Given the description of an element on the screen output the (x, y) to click on. 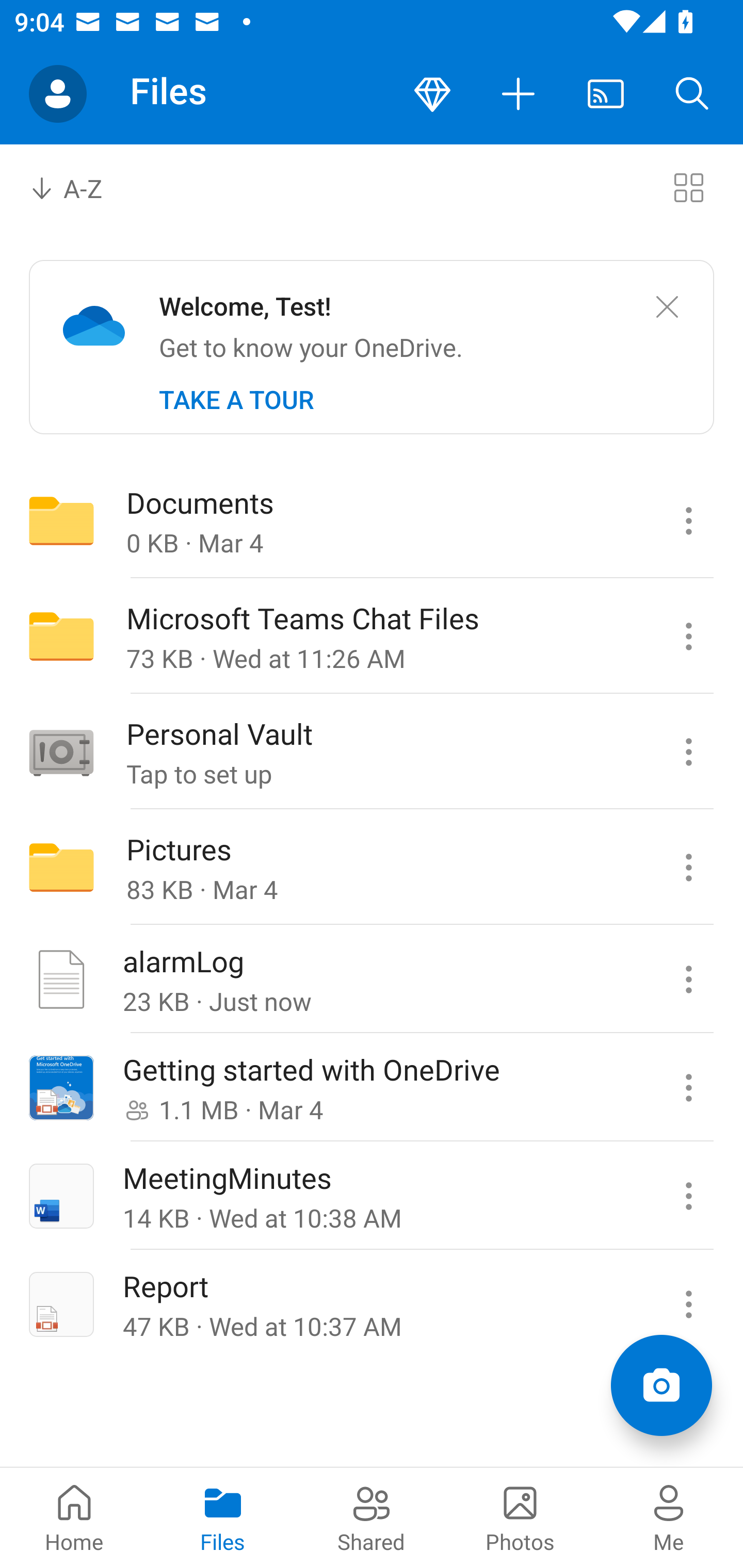
Account switcher (57, 93)
Cast. Disconnected (605, 93)
Premium button (432, 93)
More actions button (518, 93)
Search button (692, 93)
A-Z Sort by combo box, sort by name, A to Z (80, 187)
Switch to tiles view (688, 187)
Close (667, 307)
TAKE A TOUR (236, 399)
Folder Documents 0 KB · Mar 4 Documents commands (371, 520)
Documents commands (688, 520)
Microsoft Teams Chat Files commands (688, 636)
Personal Vault commands (688, 751)
Folder Pictures 83 KB · Mar 4 Pictures commands (371, 867)
Pictures commands (688, 867)
alarmLog commands (688, 979)
Getting started with OneDrive commands (688, 1087)
MeetingMinutes commands (688, 1195)
Report commands (688, 1303)
Add items Scan (660, 1385)
Home pivot Home (74, 1517)
Shared pivot Shared (371, 1517)
Photos pivot Photos (519, 1517)
Me pivot Me (668, 1517)
